Given the description of an element on the screen output the (x, y) to click on. 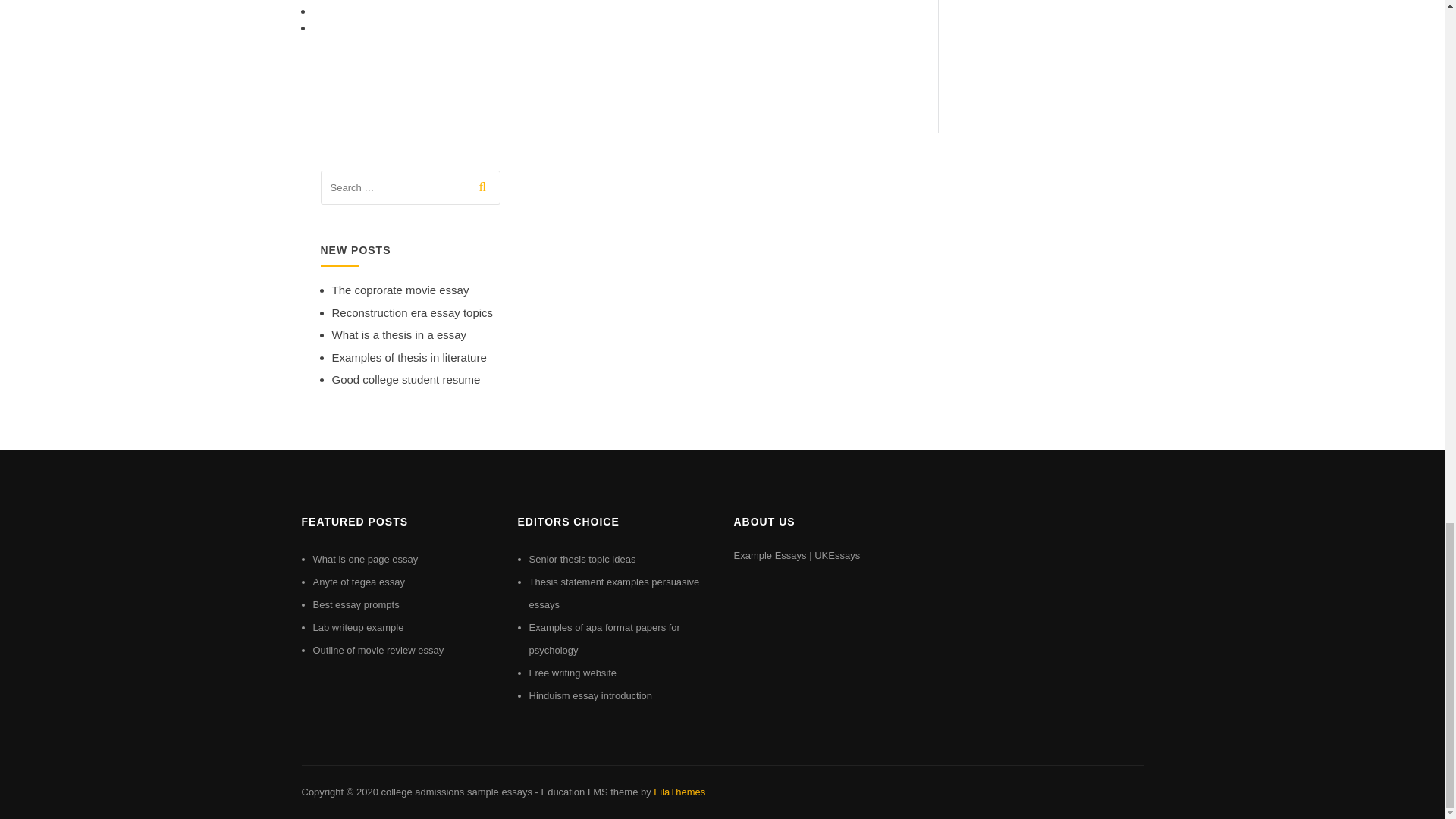
Free writing website (573, 672)
Lab writeup example (358, 627)
What is one page essay (365, 559)
Hinduism essay introduction (590, 695)
Reconstruction era essay topics (412, 312)
Anyte of tegea essay (358, 582)
Examples of apa format papers for psychology (604, 638)
Outline of movie review essay (378, 650)
Good college student resume (405, 379)
college admissions sample essays (455, 791)
What is a thesis in a essay (399, 334)
college admissions sample essays (455, 791)
Best essay prompts (355, 604)
The coprorate movie essay (399, 289)
Examples of thesis in literature (408, 357)
